Given the description of an element on the screen output the (x, y) to click on. 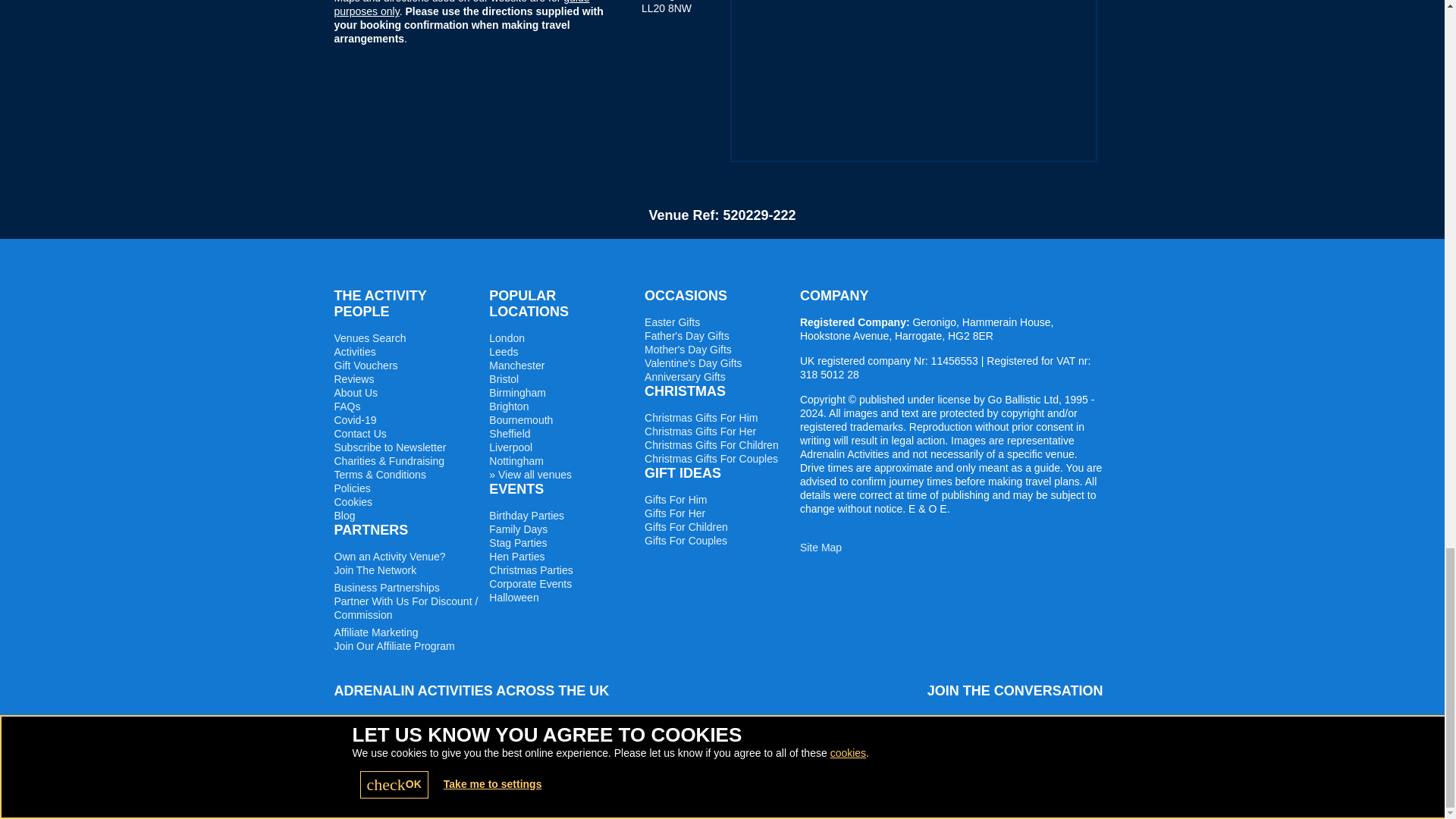
Venues Search (369, 337)
Gift Vouchers (365, 365)
Activities (354, 351)
FAQs (346, 406)
covid statement (354, 419)
Reviews (353, 378)
About Us (355, 392)
